Given the description of an element on the screen output the (x, y) to click on. 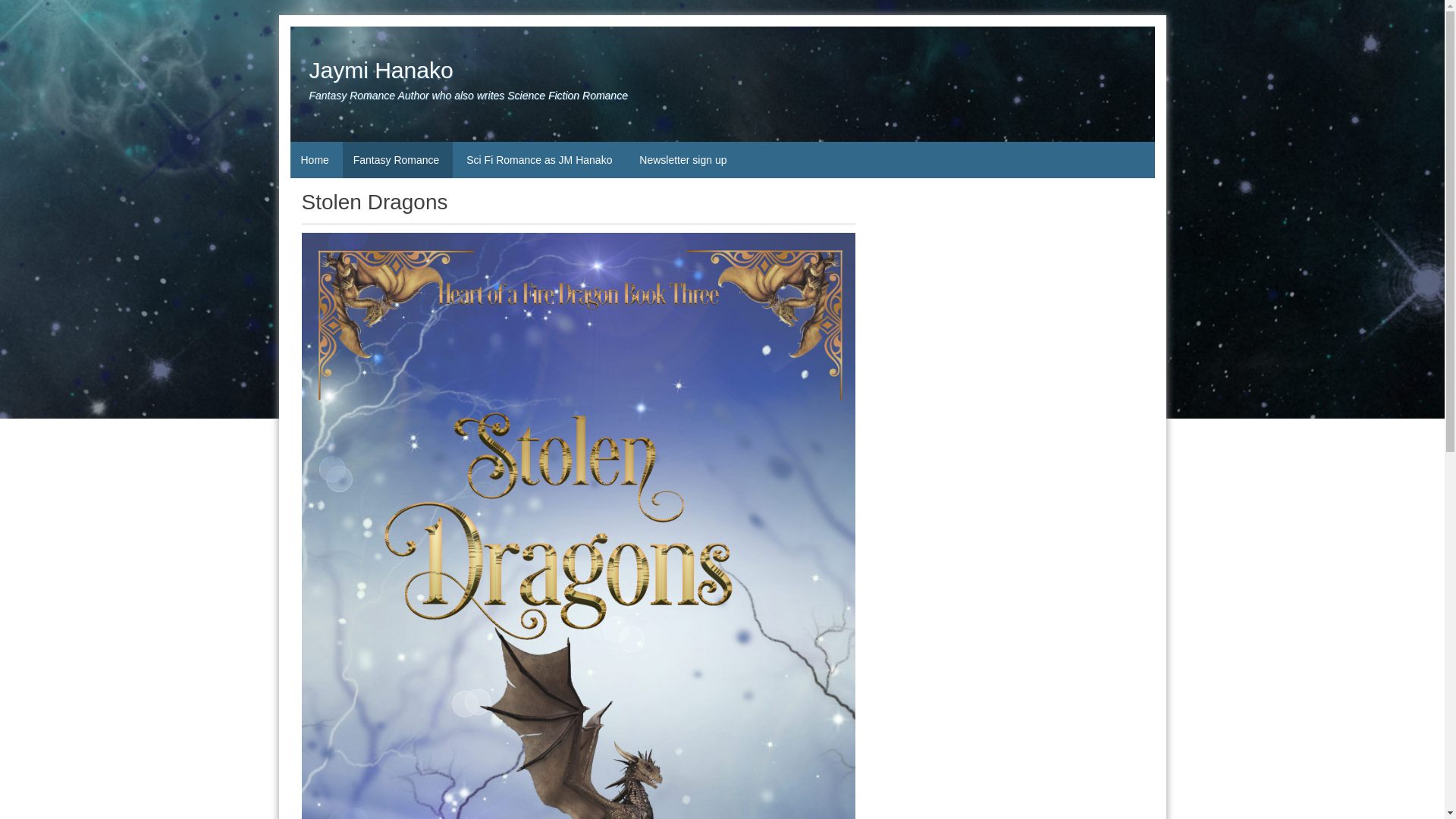
Sci Fi Romance as JM Hanako (540, 159)
Home (314, 159)
Newsletter sign up (682, 159)
Fantasy Romance (397, 159)
Jaymi Hanako (380, 69)
